Given the description of an element on the screen output the (x, y) to click on. 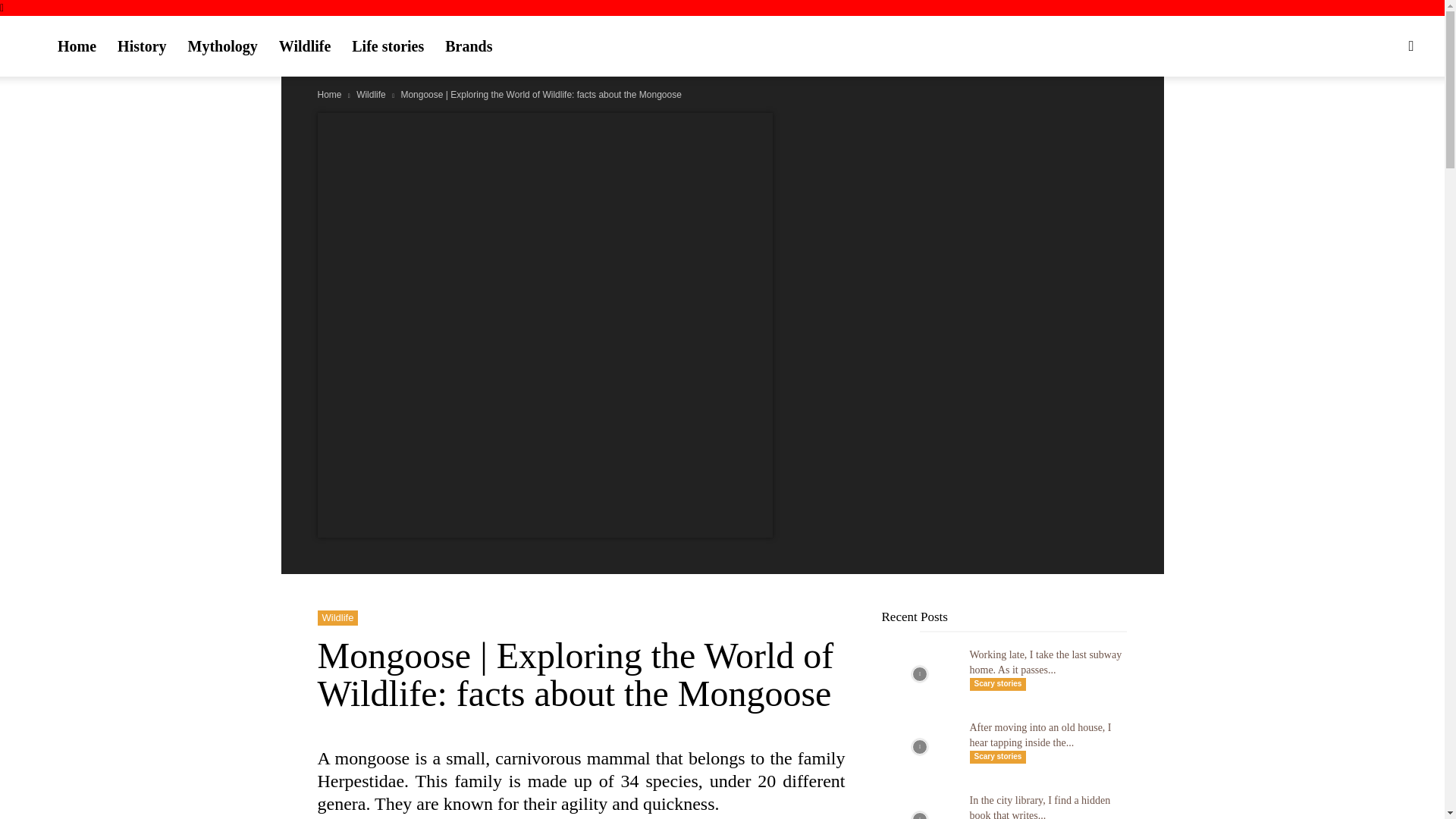
Wildlife (304, 45)
History (141, 45)
Search (1379, 119)
Home (328, 94)
Home (76, 45)
Wildlife (370, 94)
View all posts in Wildlife (370, 94)
Life stories (386, 45)
Wildlife (337, 617)
Brands (467, 45)
